Given the description of an element on the screen output the (x, y) to click on. 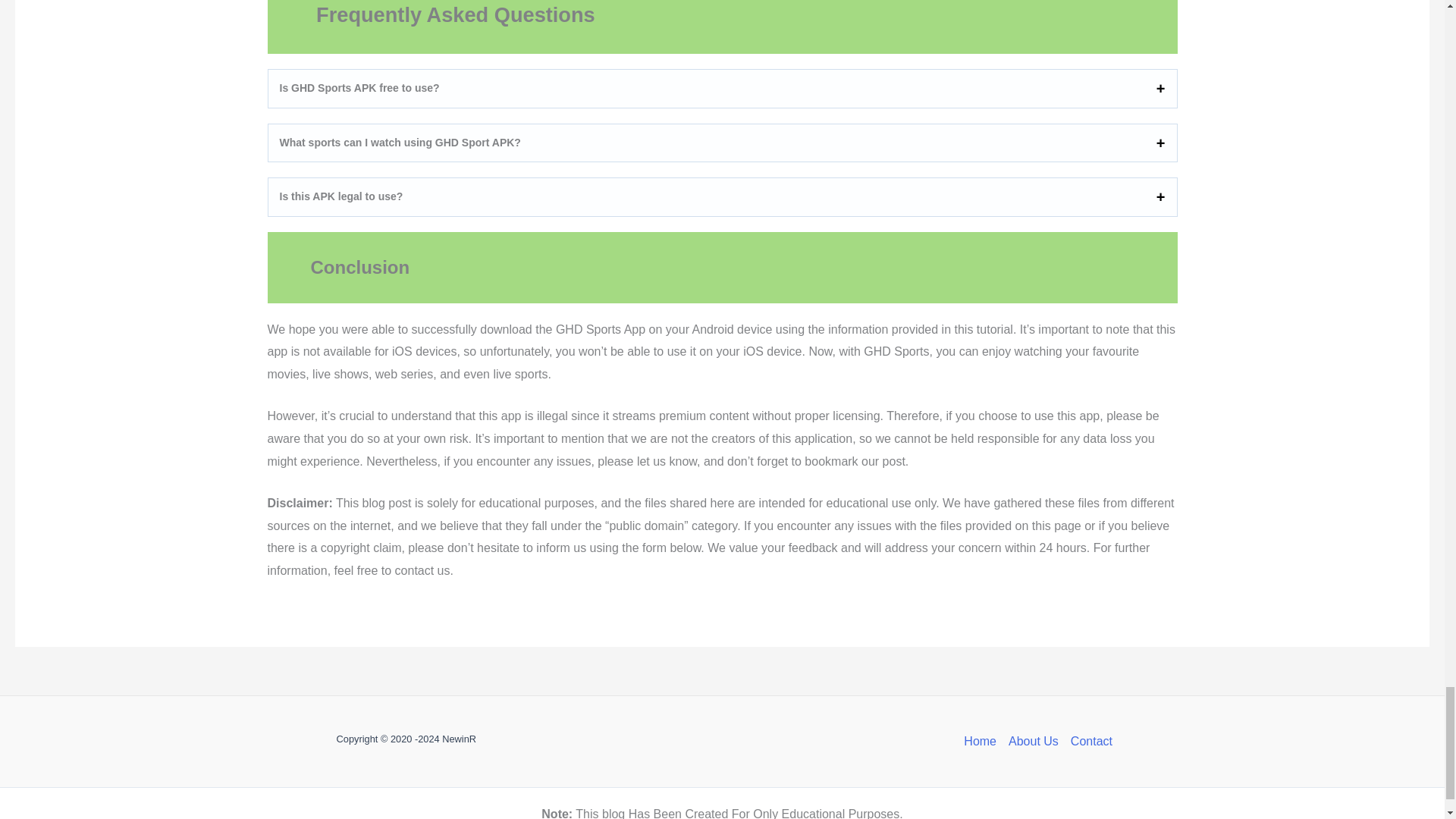
Contact (1088, 741)
Home (983, 741)
About Us (1033, 741)
